Given the description of an element on the screen output the (x, y) to click on. 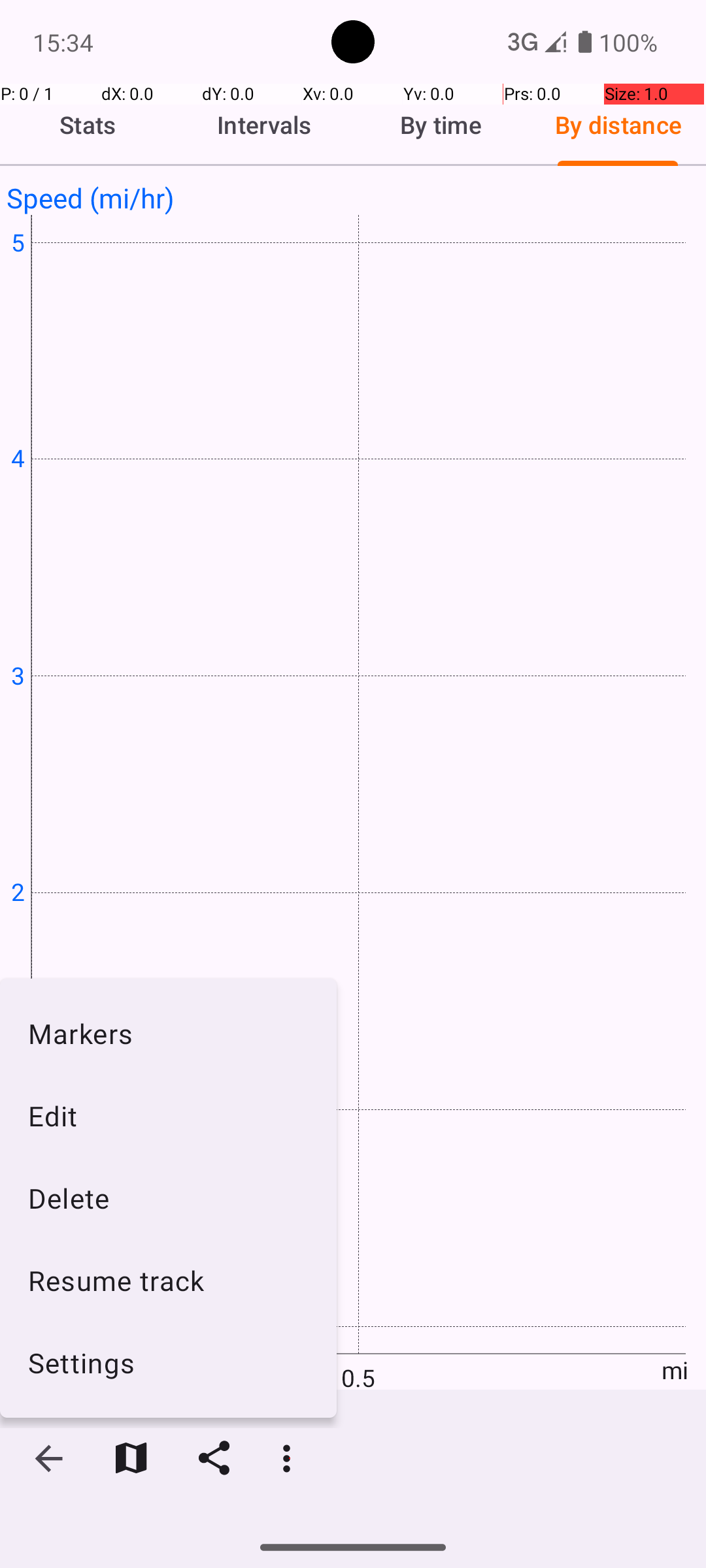
Markers Element type: android.widget.TextView (168, 1032)
Resume track Element type: android.widget.TextView (168, 1279)
